Given the description of an element on the screen output the (x, y) to click on. 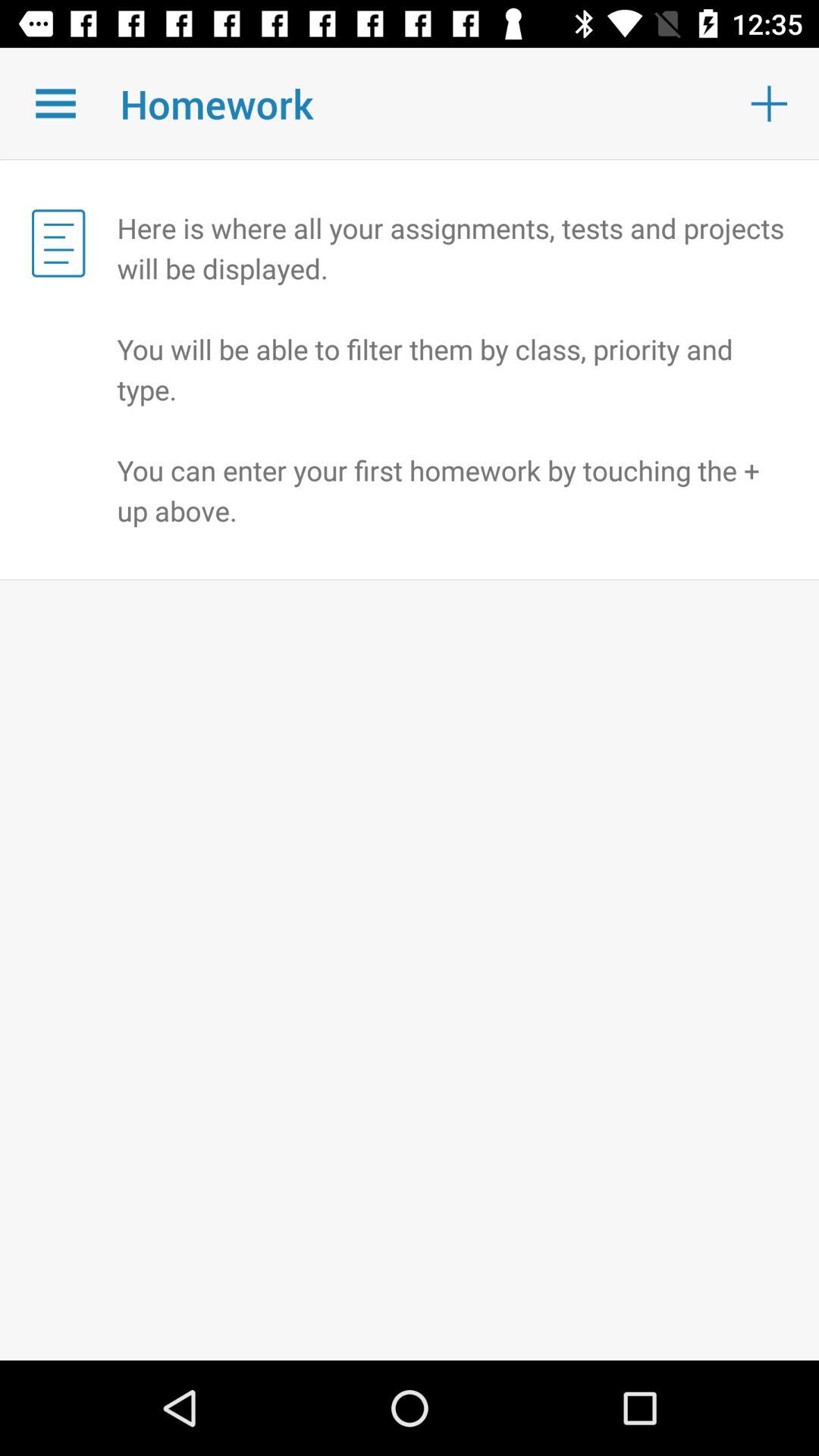
open options menu (55, 103)
